Given the description of an element on the screen output the (x, y) to click on. 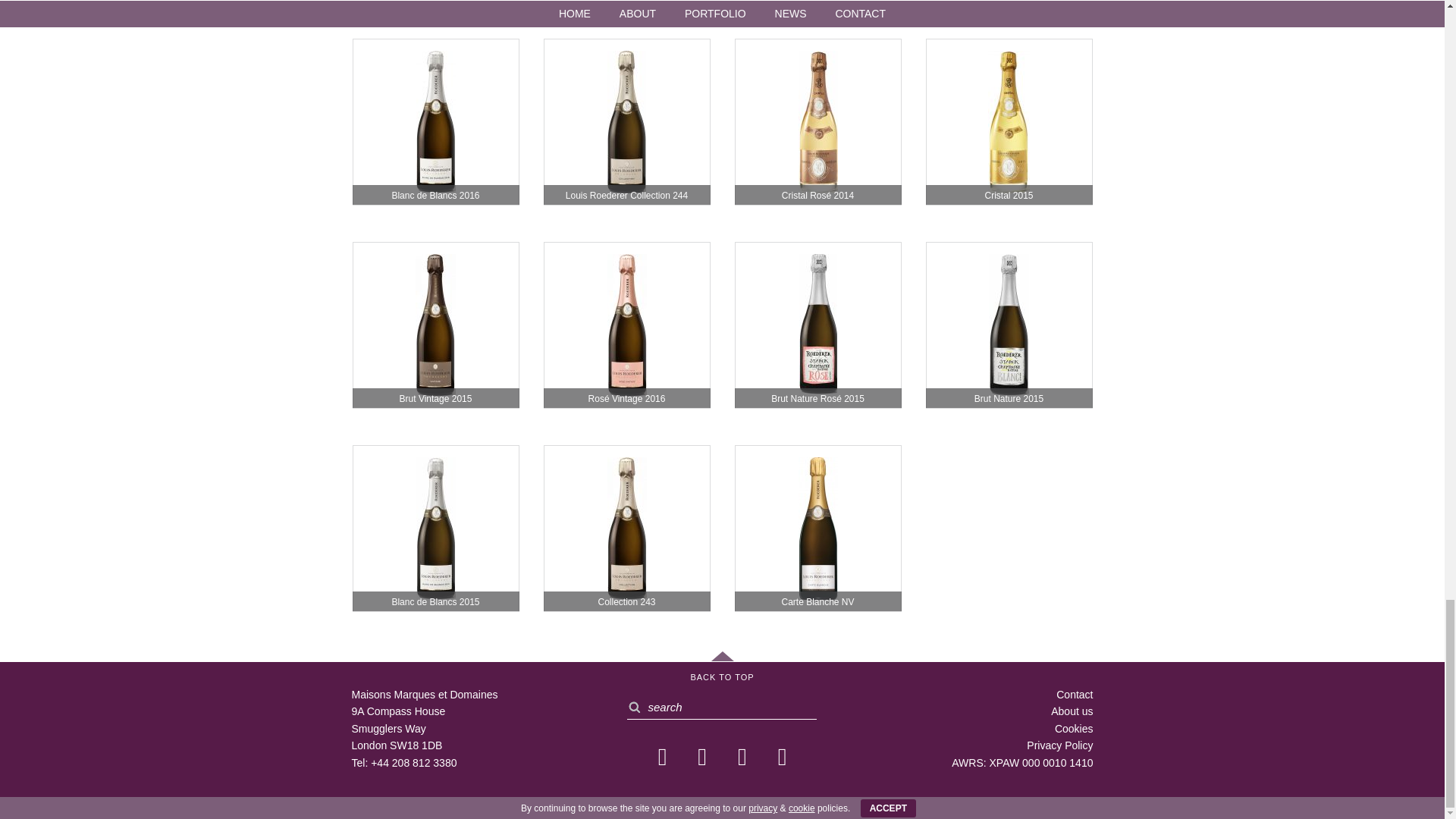
Cristal 2015 (1008, 121)
Brut Vintage 2016 (435, 1)
Contact (1075, 694)
Brut Vintage 2015 (435, 324)
Louis Roederer Collection 244 (626, 121)
Brut Nature 2015 (1008, 324)
Blanc de Blancs 2016 (435, 121)
Louis Roederer Collection 244 (626, 121)
Privacy Policy (1059, 745)
Blanc de Blancs 2016 (435, 121)
